Given the description of an element on the screen output the (x, y) to click on. 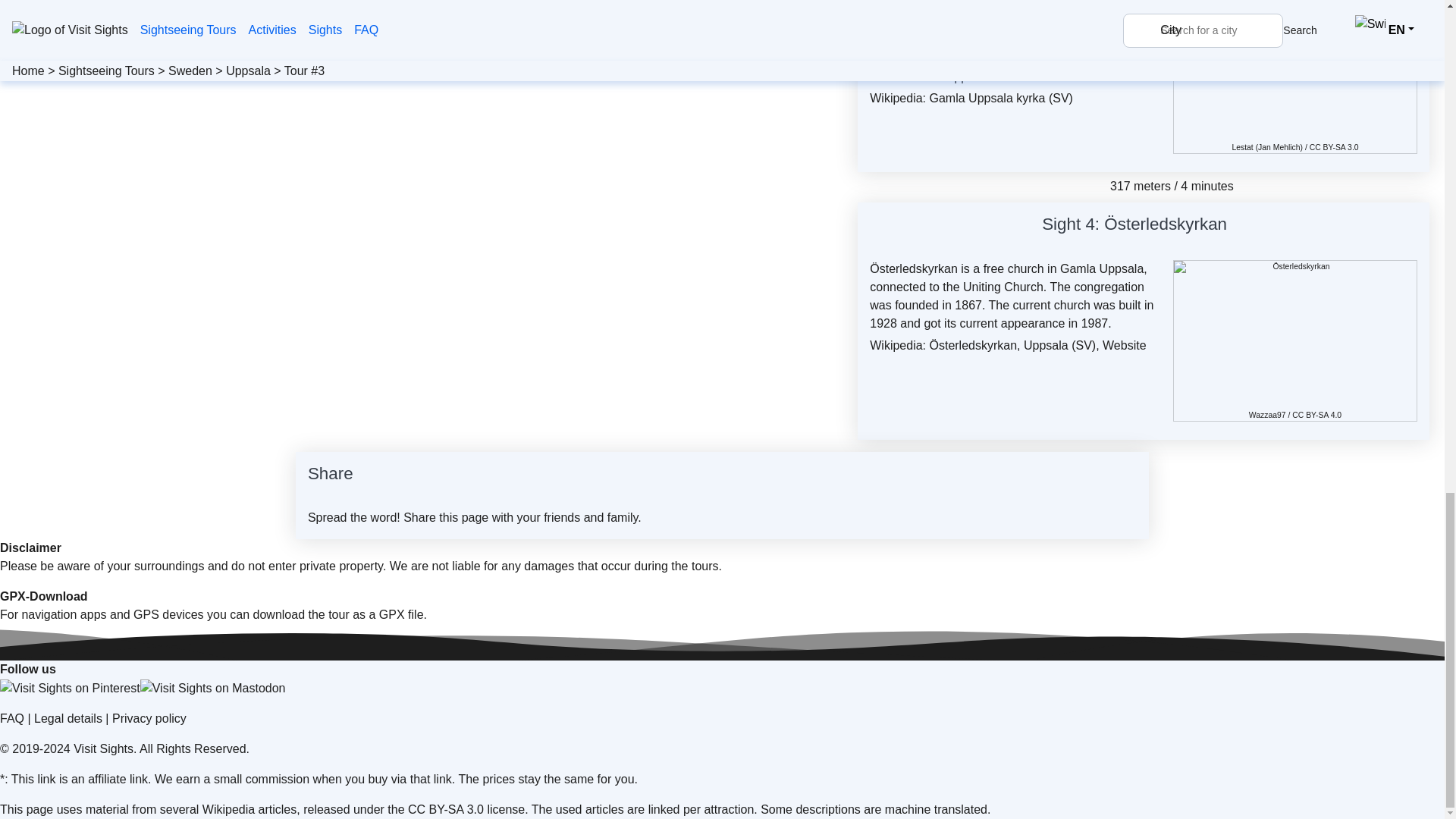
Lestat (1241, 146)
CC BY-SA 3.0 (1333, 146)
Visit Sights on Mastodon (212, 688)
download the tour as a GPX file (338, 614)
pl:Wikipedysta:Lestat (1241, 146)
CC BY-SA 4.0 (1316, 415)
Wazzaa97 (1267, 415)
Visit Sights on Pinterest (69, 688)
Website (1124, 345)
Show sight on map (1235, 226)
